Given the description of an element on the screen output the (x, y) to click on. 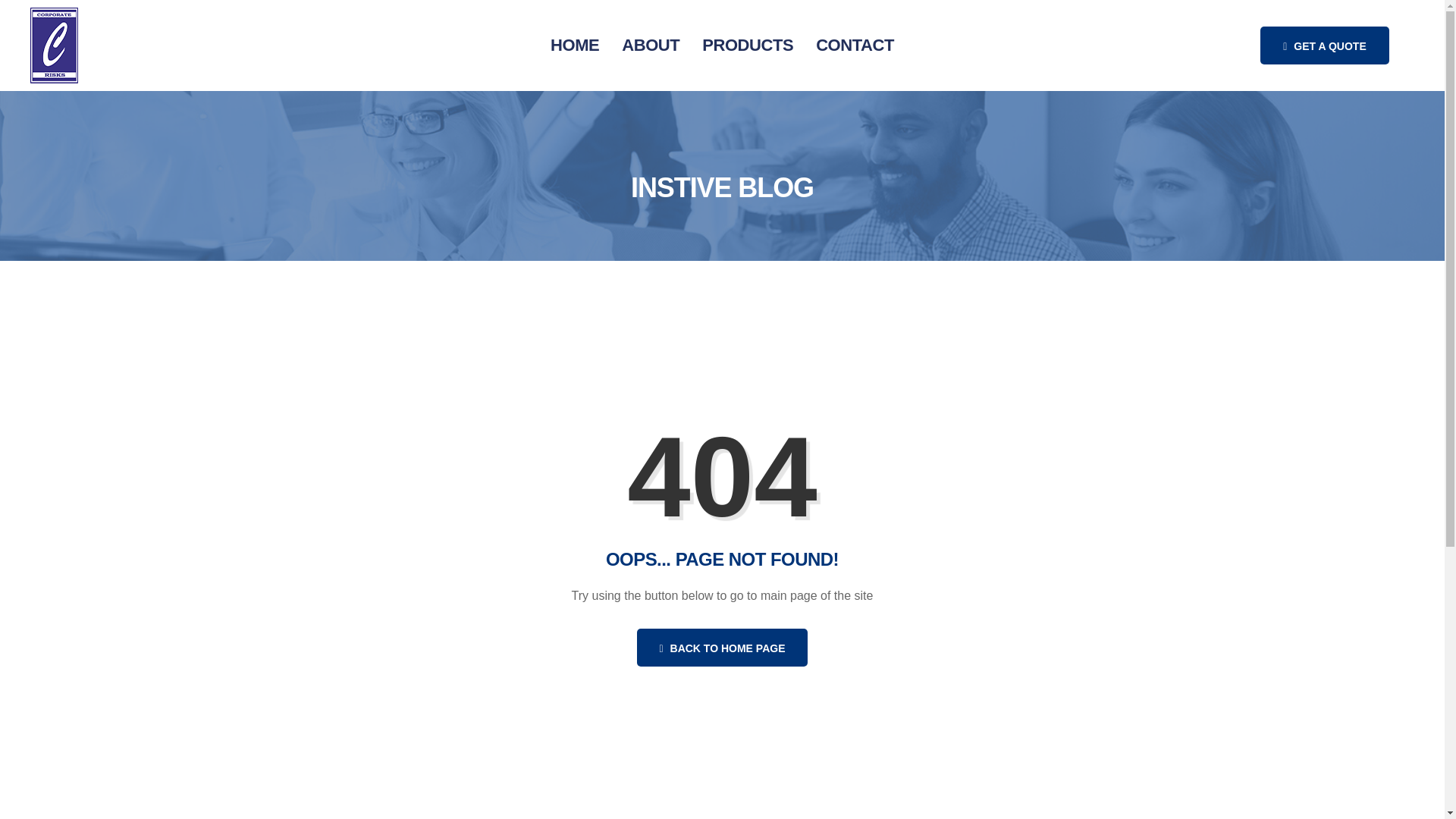
PRODUCTS (747, 45)
ABOUT (650, 45)
HOME (574, 45)
GET A QUOTE (1324, 45)
BACK TO HOME PAGE (722, 647)
CONTACT (855, 45)
